Given the description of an element on the screen output the (x, y) to click on. 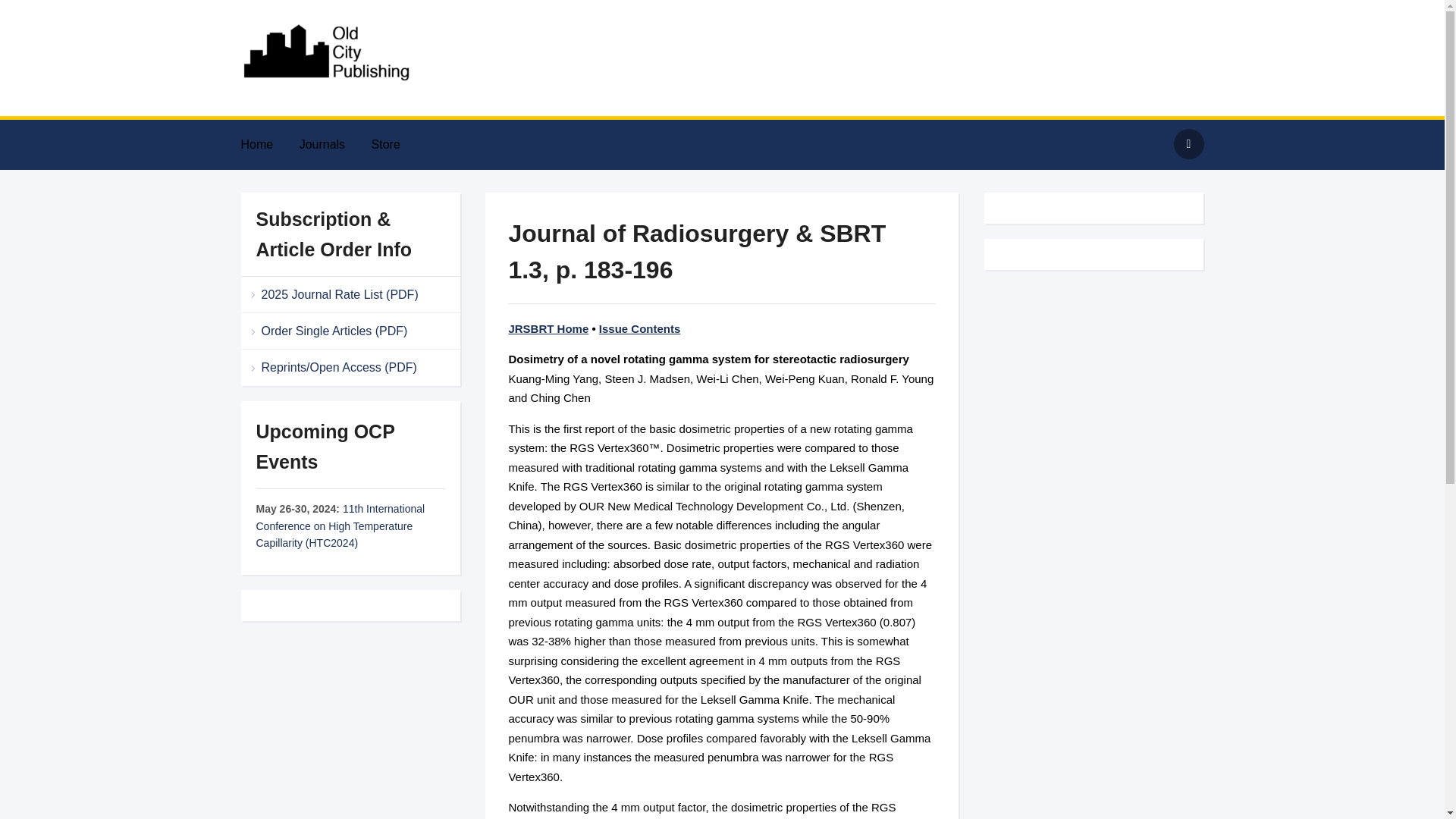
Home (269, 144)
JRSBRT Home (548, 328)
Journals (333, 144)
Store (397, 144)
Search (1188, 143)
Issue Contents (639, 328)
